Given the description of an element on the screen output the (x, y) to click on. 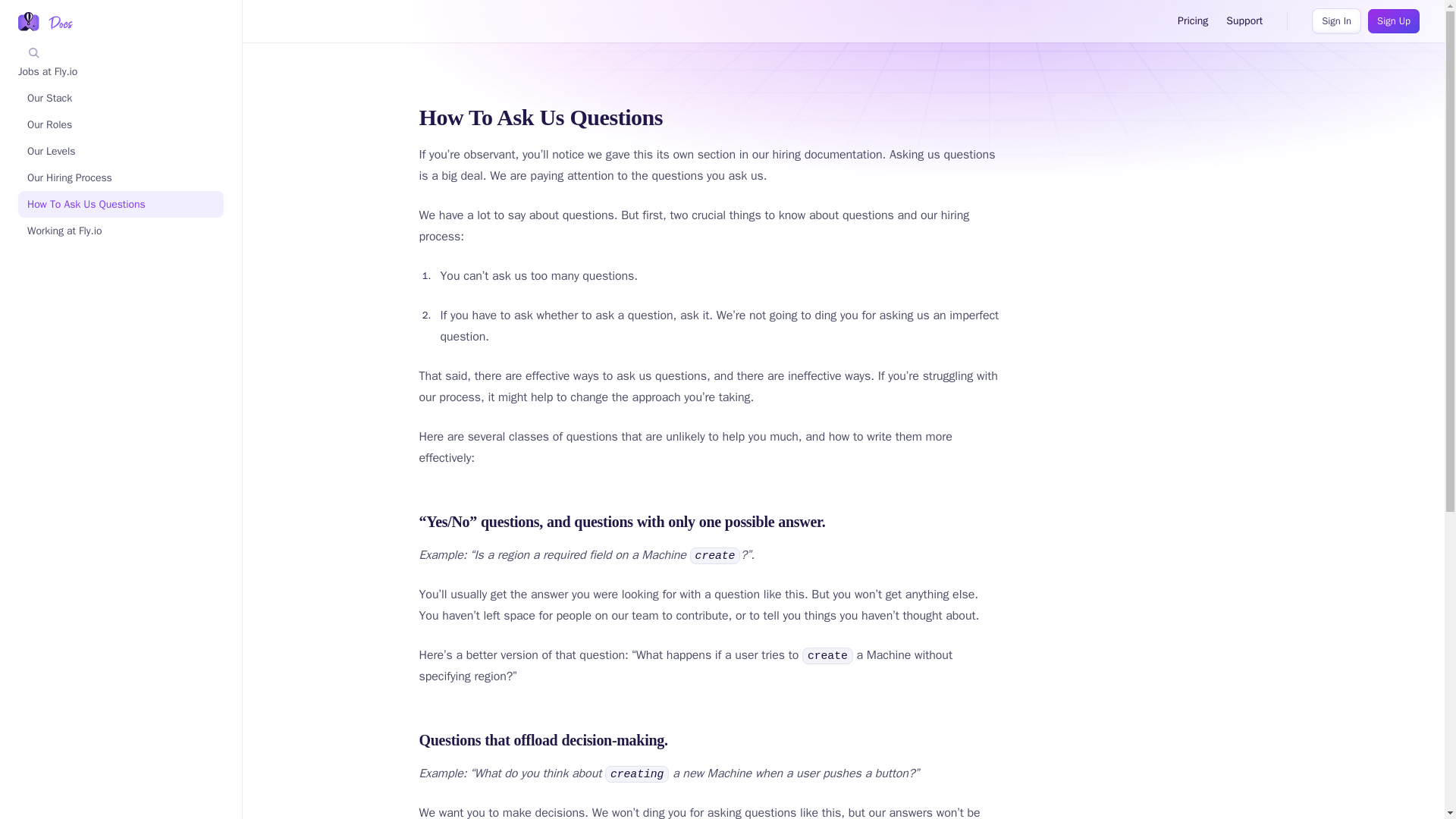
Sign Up (1394, 21)
How To Ask Us Questions (120, 203)
Our Hiring Process (120, 177)
Our Stack (120, 98)
Jobs at Fly.io (116, 71)
Support (1243, 21)
Our Levels (120, 151)
Working at Fly.io (120, 230)
Pricing (1192, 21)
Sign In (1336, 21)
Our Roles (120, 124)
